Given the description of an element on the screen output the (x, y) to click on. 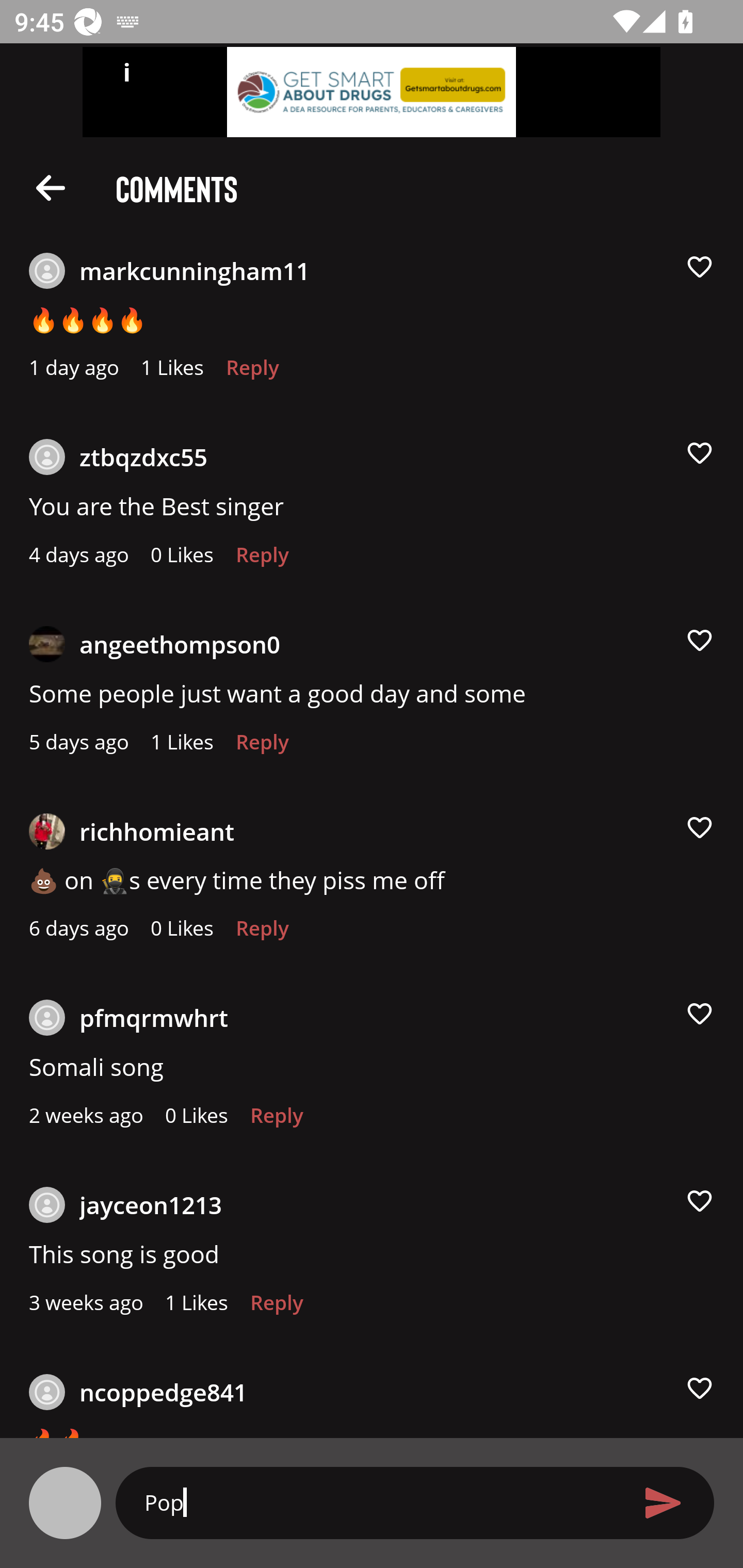
Description (50, 187)
Reply (252, 372)
Reply (261, 559)
Reply (261, 747)
Reply (261, 932)
Reply (276, 1120)
Reply (276, 1307)
Pop (378, 1502)
